Given the description of an element on the screen output the (x, y) to click on. 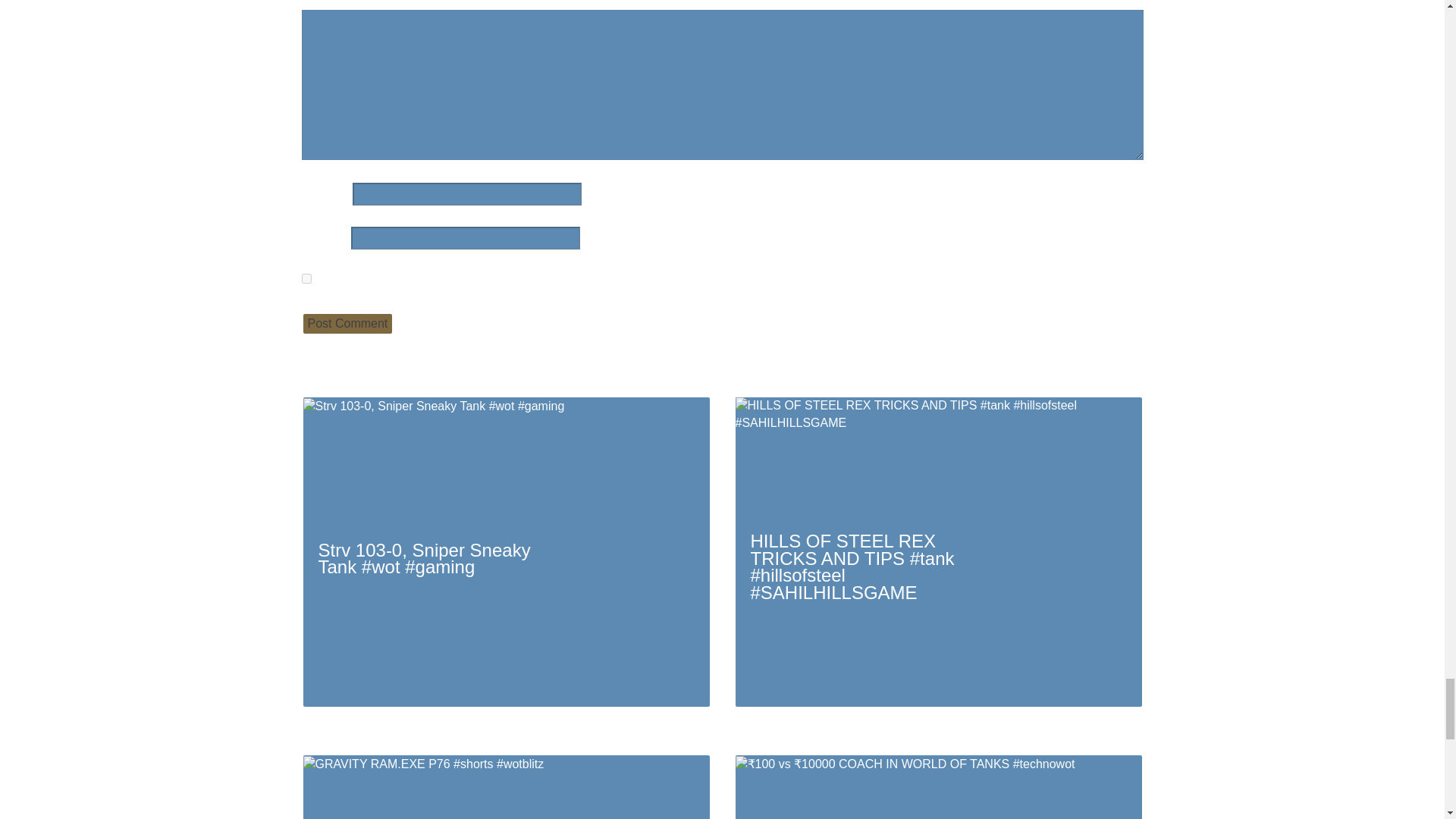
yes (306, 278)
Post Comment (347, 323)
